Given the description of an element on the screen output the (x, y) to click on. 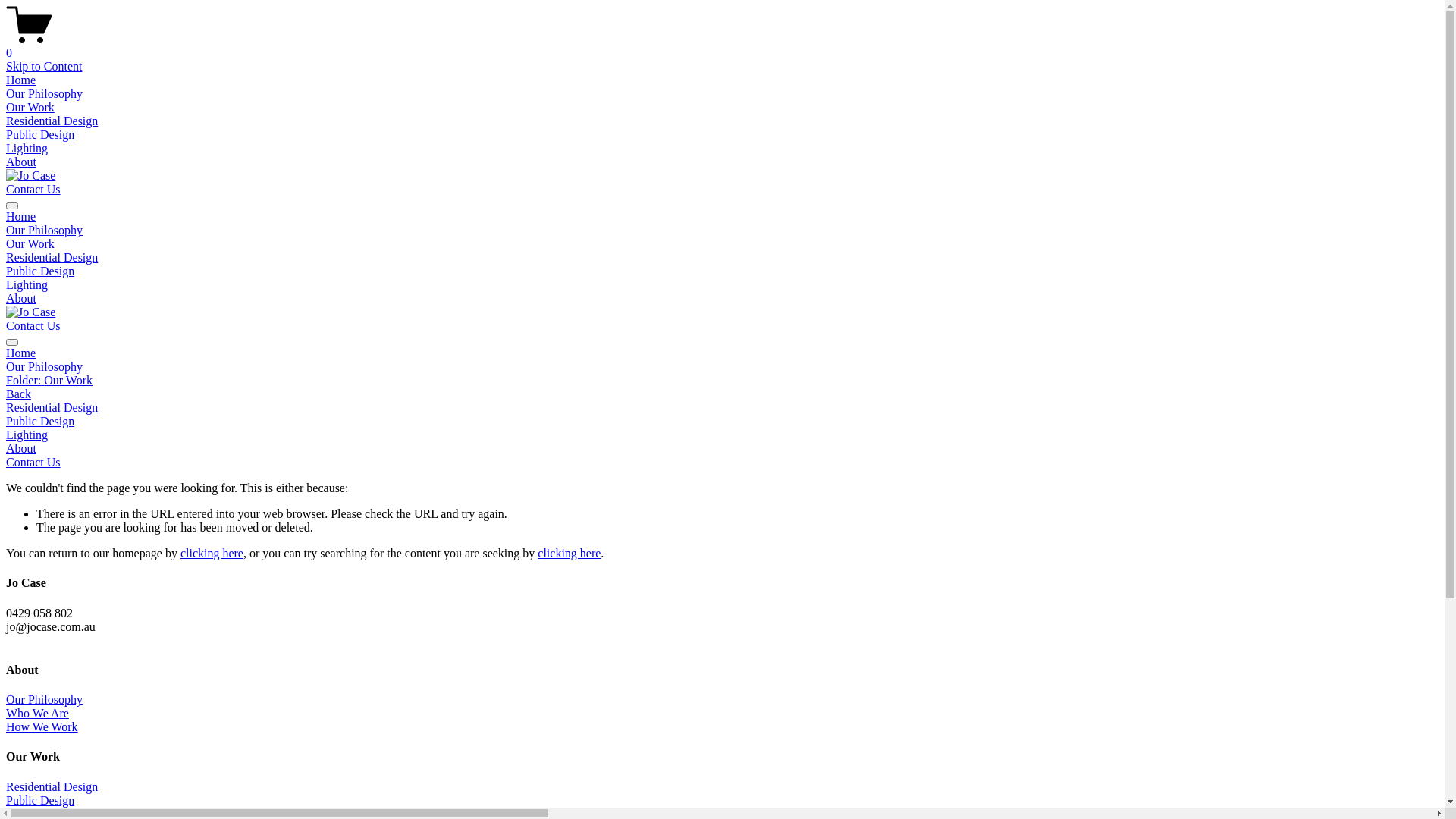
Residential Design Element type: text (51, 120)
Lighting Element type: text (722, 435)
Contact Us Element type: text (33, 325)
Public Design Element type: text (722, 421)
Public Design Element type: text (40, 134)
Home Element type: text (20, 79)
Residential Design Element type: text (722, 407)
Our Philosophy Element type: text (722, 366)
Home Element type: text (20, 216)
Lighting Element type: text (26, 147)
Public Design Element type: text (40, 270)
clicking here Element type: text (568, 552)
Contact Us Element type: text (33, 188)
Home Element type: text (722, 353)
About Element type: text (722, 448)
Residential Design Element type: text (51, 257)
How We Work Element type: text (42, 726)
Our Philosophy Element type: text (44, 93)
About Element type: text (21, 297)
About Element type: text (21, 161)
Back Element type: text (18, 393)
Residential Design Element type: text (51, 786)
Public Design Element type: text (40, 799)
Our Work Element type: text (30, 106)
Lighting Element type: text (26, 284)
Our Work Element type: text (30, 243)
clicking here Element type: text (211, 552)
Our Philosophy Element type: text (44, 229)
Folder: Our Work Element type: text (722, 380)
Skip to Content Element type: text (43, 65)
Our Philosophy Element type: text (44, 699)
Who We Are Element type: text (37, 712)
Contact Us Element type: text (33, 461)
0 Element type: text (722, 45)
